Given the description of an element on the screen output the (x, y) to click on. 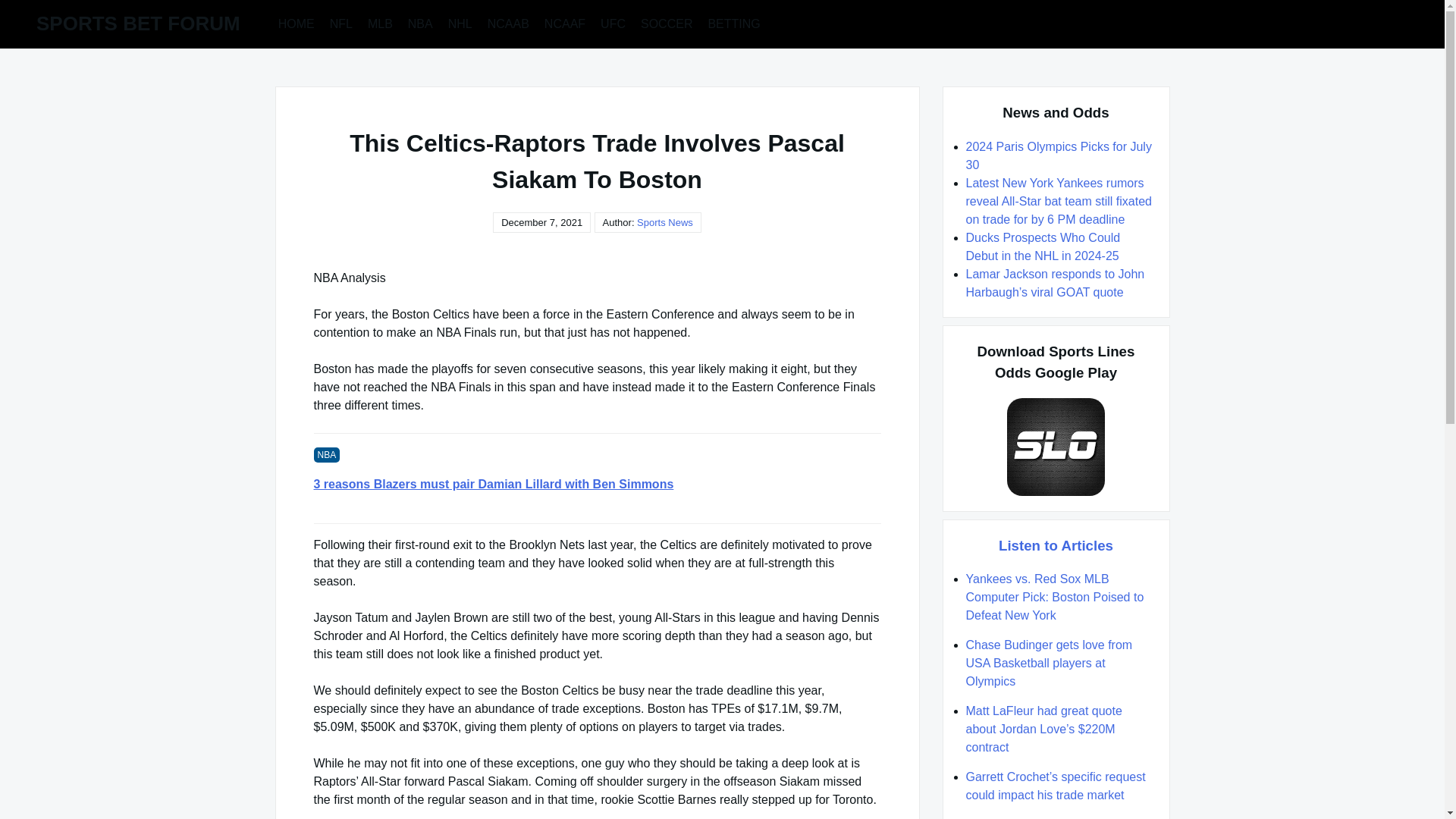
NCAAB (508, 23)
NBA (420, 23)
3 reasons Blazers must pair Damian Lillard with Ben Simmons (597, 484)
UFC (612, 23)
HOME (295, 23)
2024 Paris Olympics Picks for July 30 (1058, 155)
NFL (340, 23)
NHL (460, 23)
NCAAF (564, 23)
Sports News (665, 222)
SOCCER (666, 23)
SPORTS BET FORUM (138, 23)
Posts by Sports News (665, 222)
MLB (379, 23)
BETTING (733, 23)
